Given the description of an element on the screen output the (x, y) to click on. 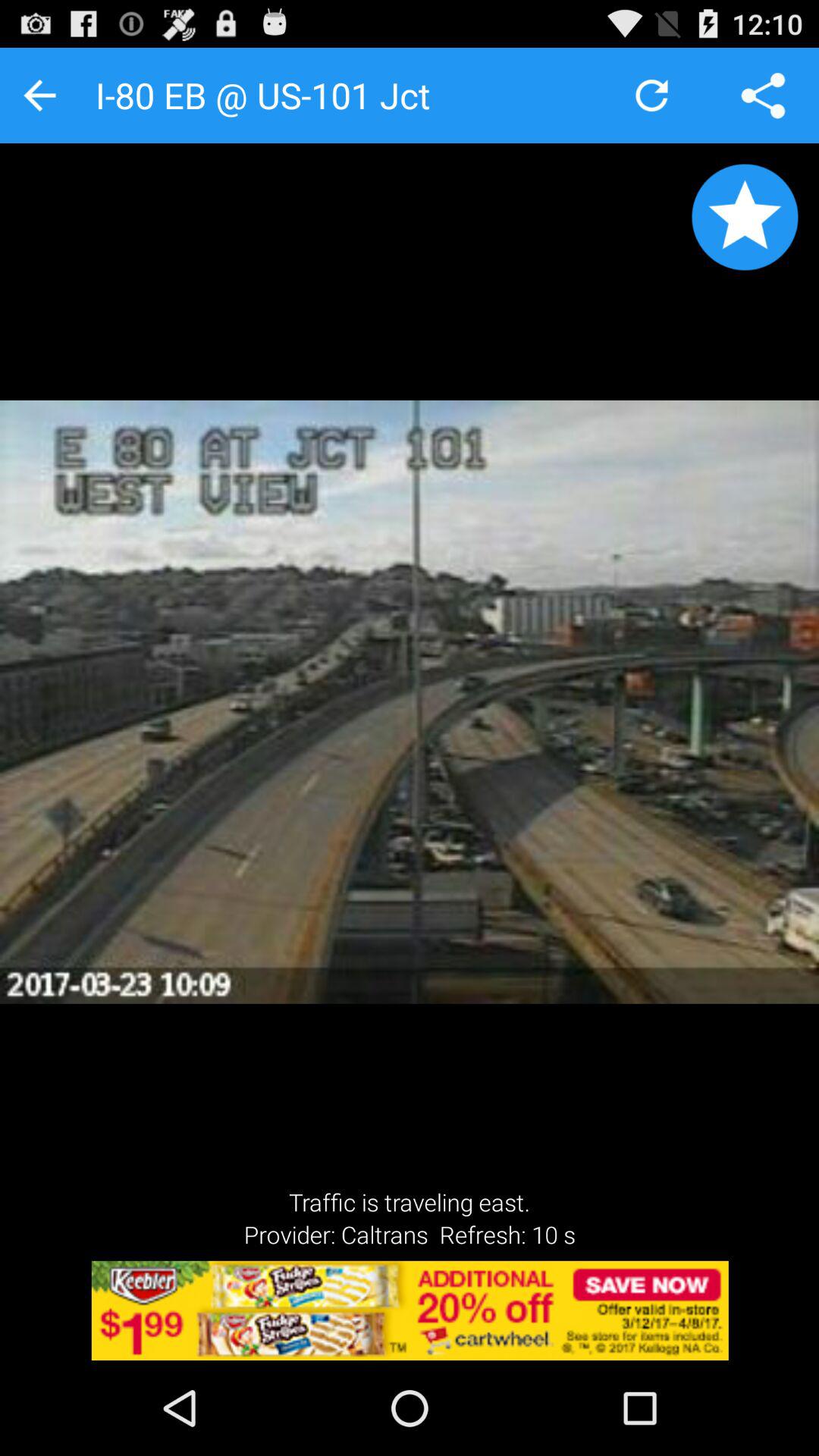
manual reload (651, 95)
